Given the description of an element on the screen output the (x, y) to click on. 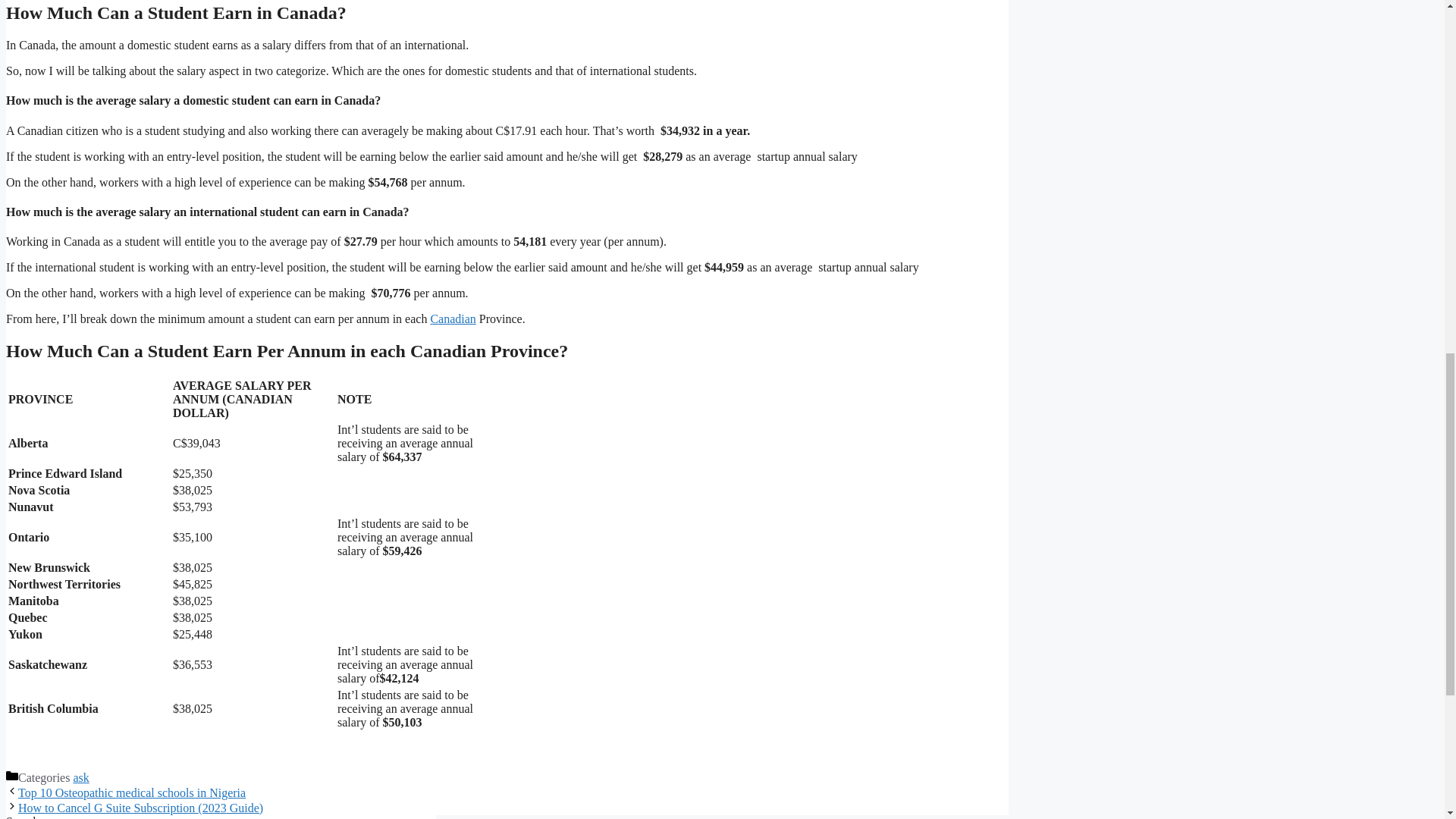
ask (80, 777)
Top 10 Osteopathic medical schools in Nigeria (131, 792)
Canadian (452, 318)
